Given the description of an element on the screen output the (x, y) to click on. 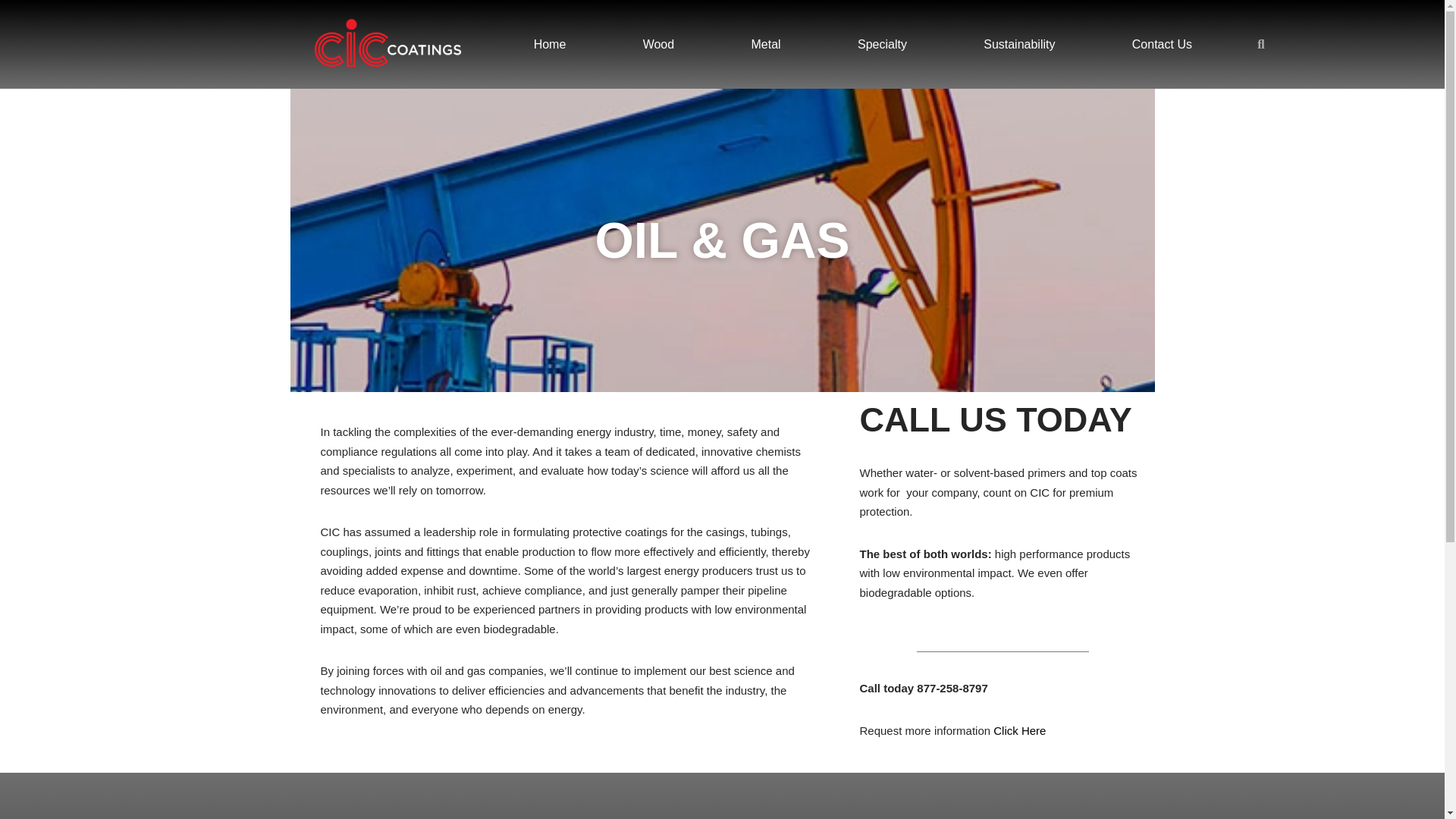
Specialty (881, 43)
Wood (658, 43)
Contact Us (1161, 43)
Home (550, 43)
Skip to content (11, 31)
Sustainability (1019, 43)
Metal (765, 43)
